Given the description of an element on the screen output the (x, y) to click on. 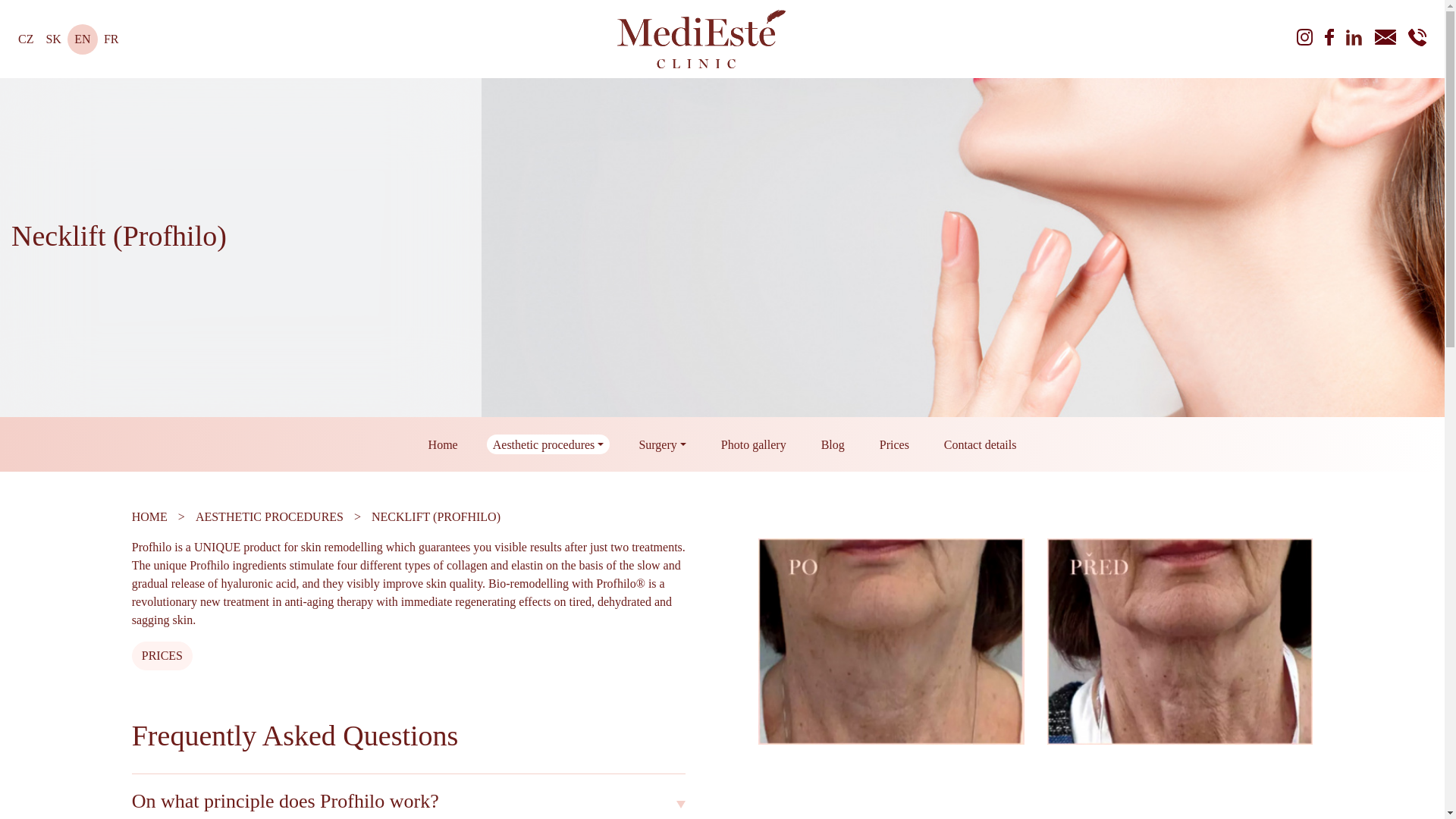
CZ (25, 39)
FR (111, 39)
EN (81, 39)
SK (52, 39)
